Given the description of an element on the screen output the (x, y) to click on. 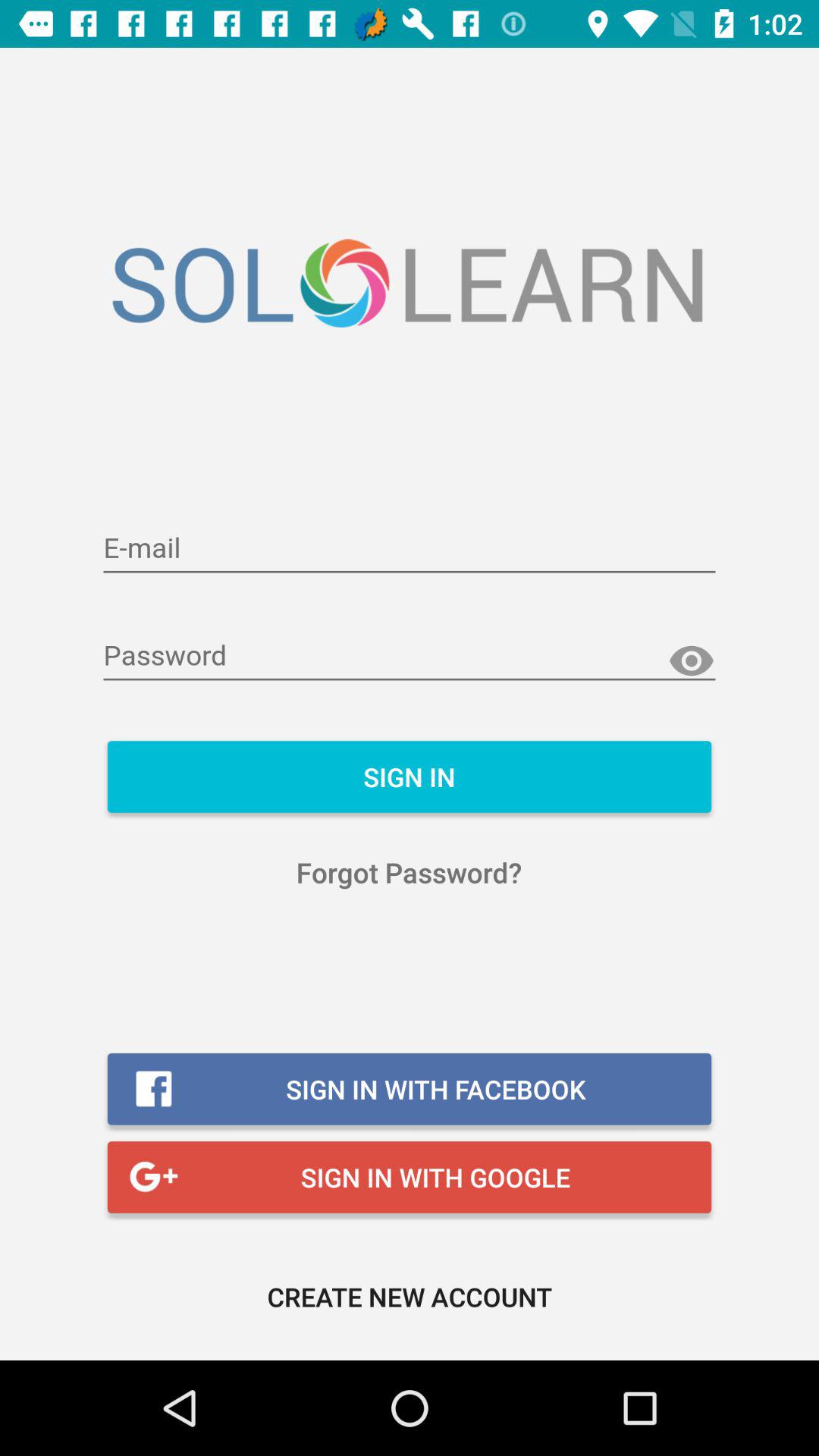
turn off the item below sign in with (409, 1296)
